Given the description of an element on the screen output the (x, y) to click on. 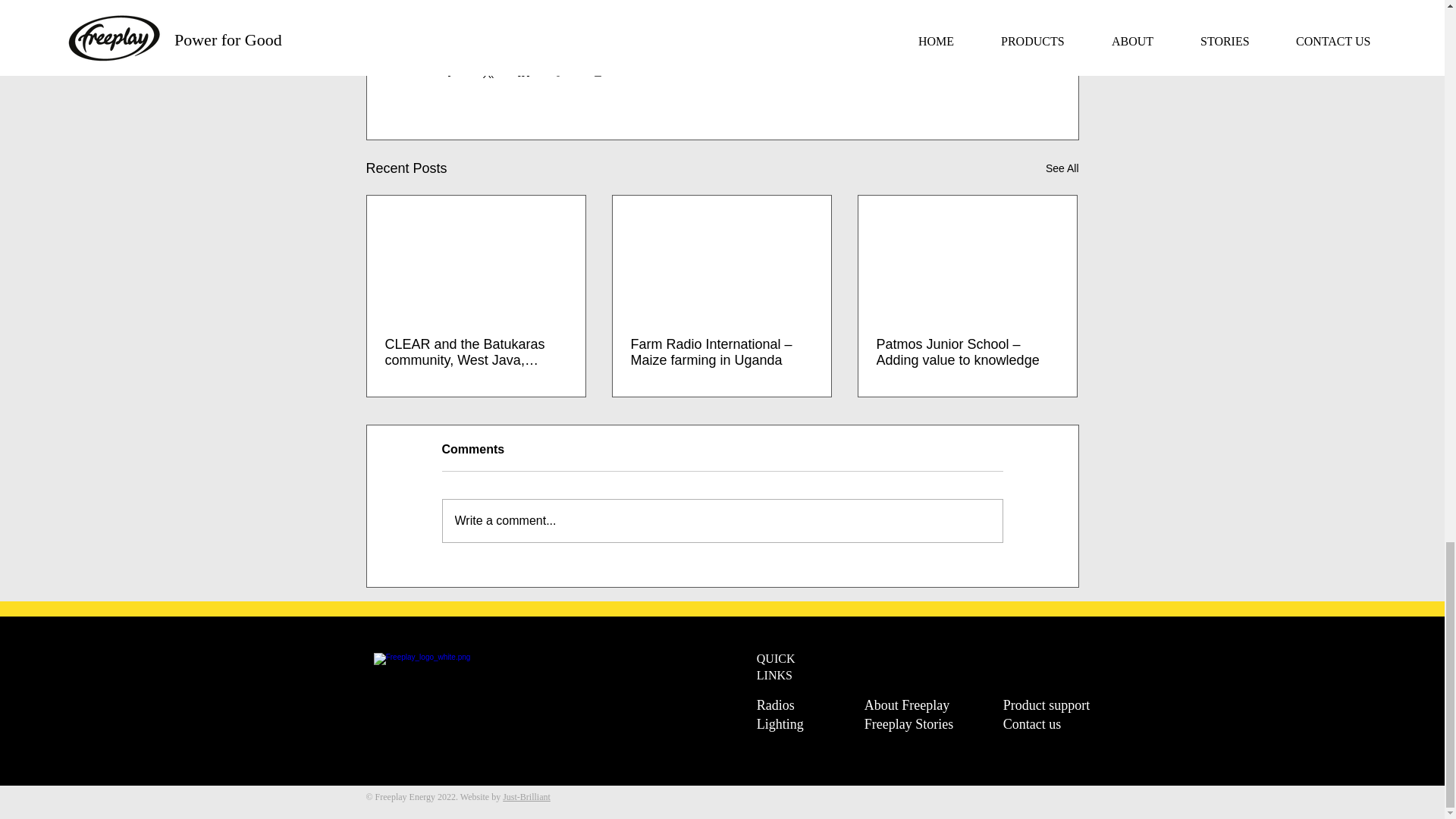
See All (1061, 168)
About Freeplay (918, 705)
Write a comment... (722, 520)
CLEAR and the Batukaras community, West Java, Indonesia (476, 352)
Just-Brilliant (526, 796)
Product support (1056, 705)
Contact us (1056, 723)
Radios (810, 705)
Freeplay Stories (918, 723)
Lighting (810, 723)
